Given the description of an element on the screen output the (x, y) to click on. 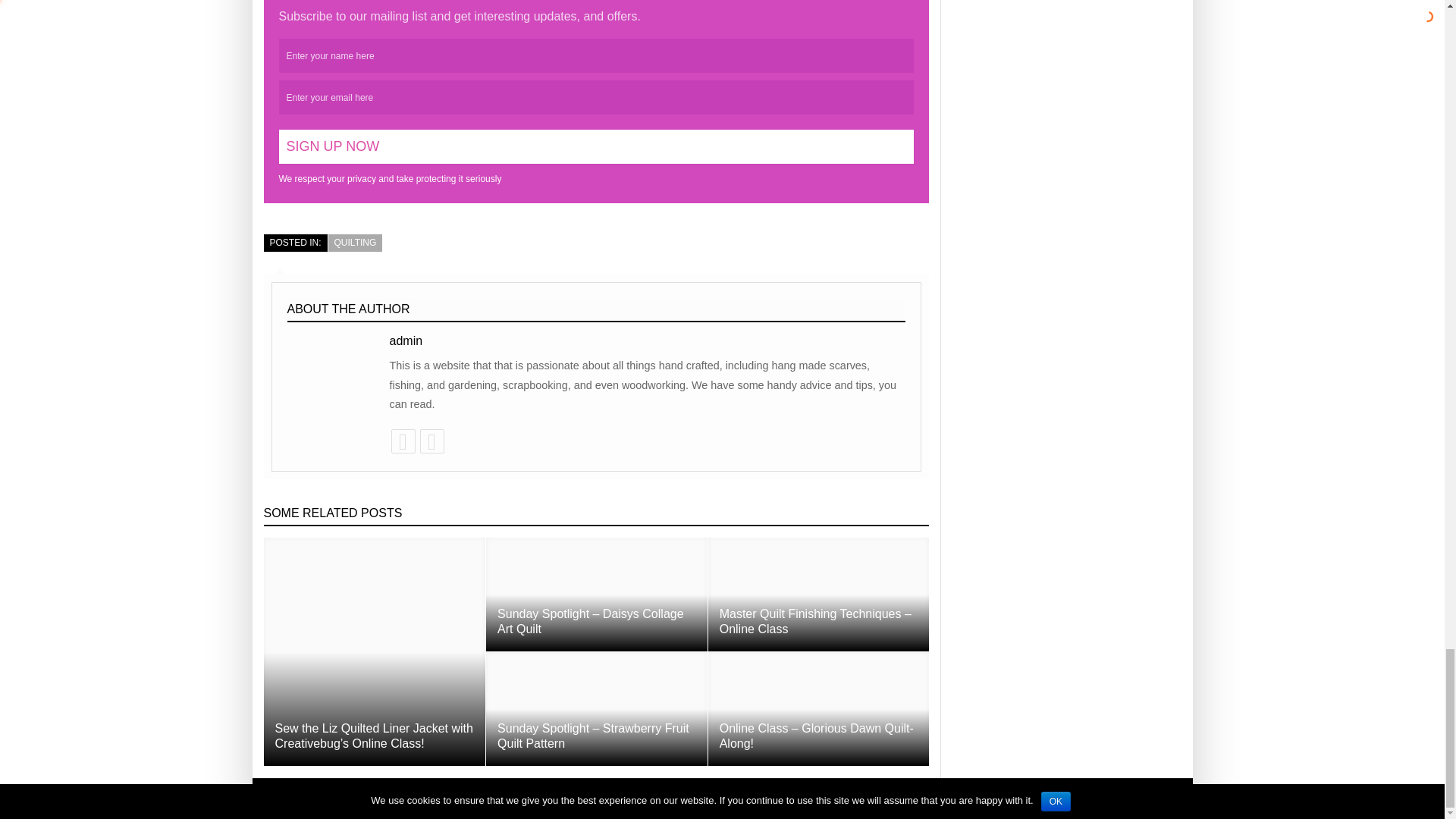
Sign Up Now (596, 146)
